Given the description of an element on the screen output the (x, y) to click on. 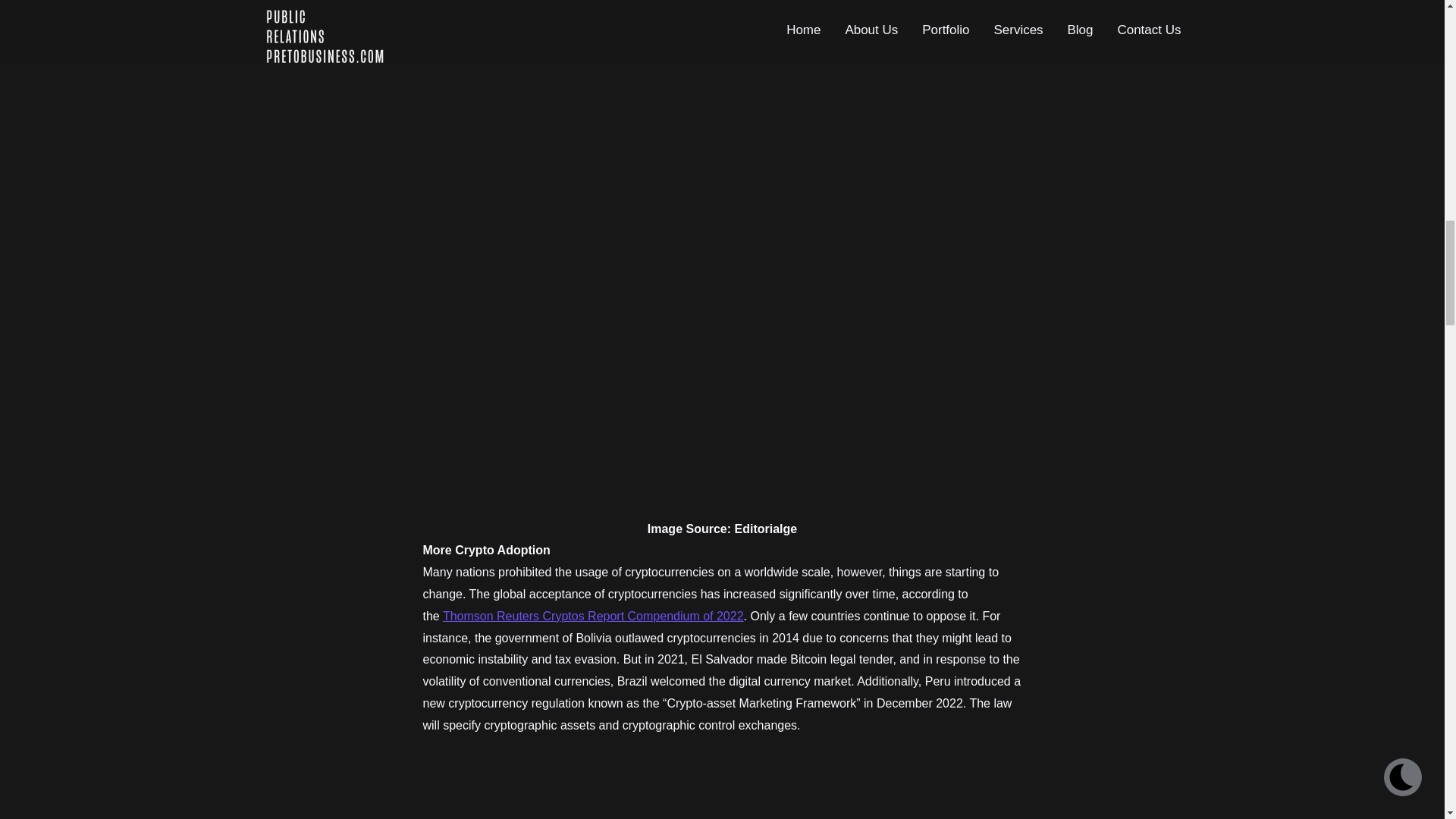
Thomson Reuters Cryptos Report Compendium of 2022 (593, 615)
